Given the description of an element on the screen output the (x, y) to click on. 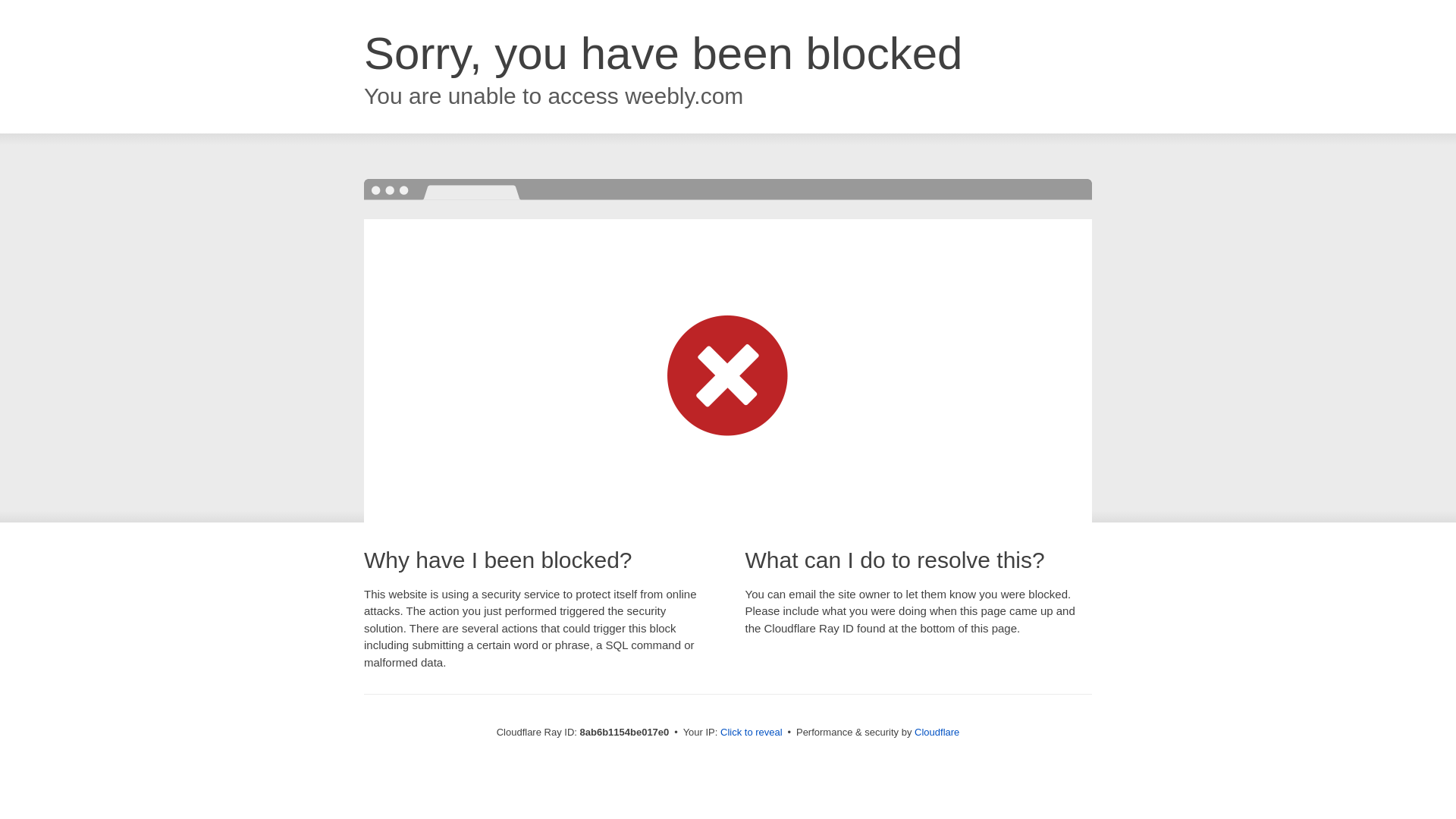
Cloudflare (936, 731)
Click to reveal (751, 732)
